Given the description of an element on the screen output the (x, y) to click on. 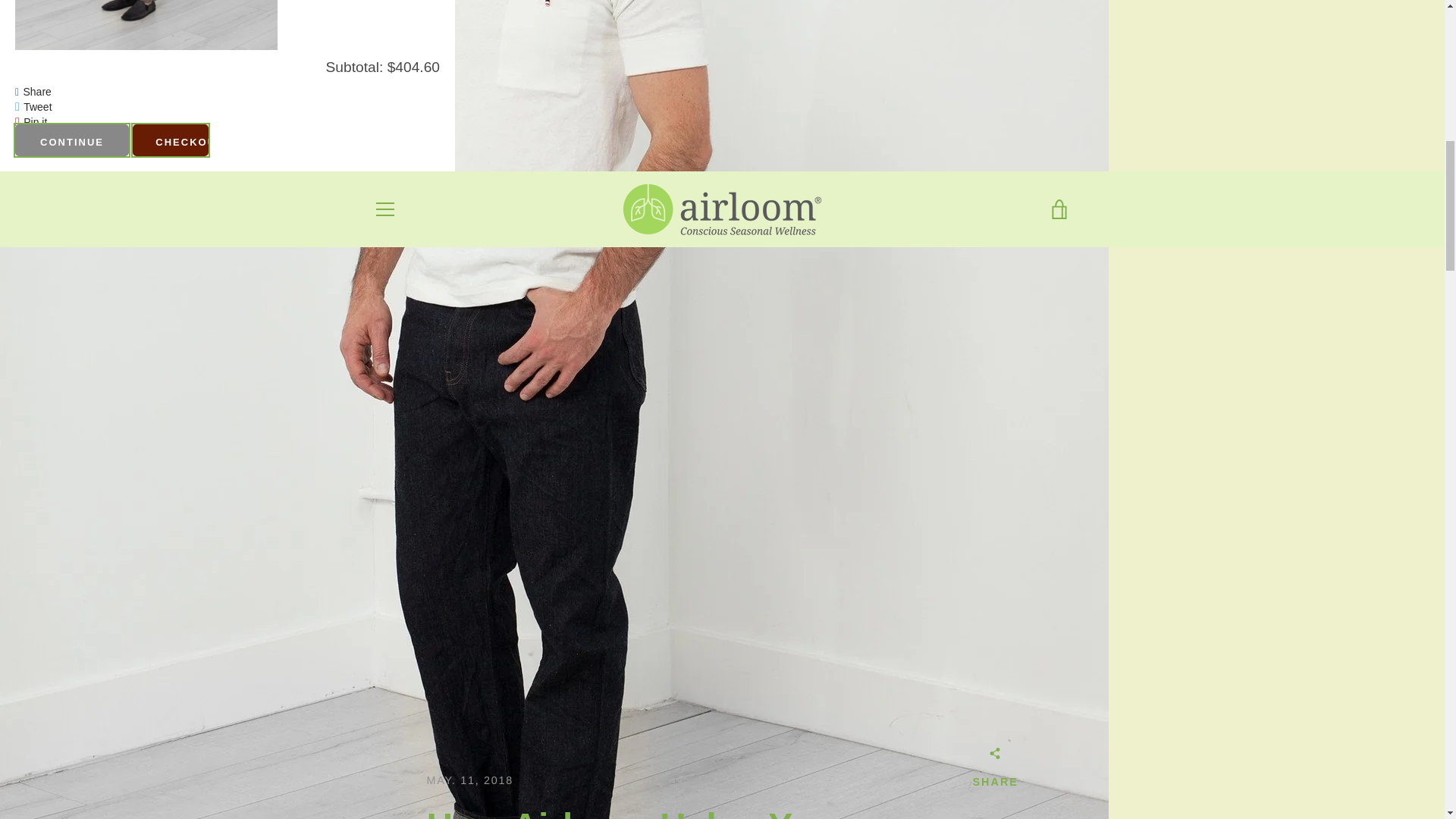
CHECKOUT (170, 140)
Share (36, 91)
CONTINUE SHOPPING (71, 140)
VIEW CART (1059, 209)
Tweet (36, 106)
EXPAND NAVIGATION (384, 209)
Pin it (34, 121)
